Given the description of an element on the screen output the (x, y) to click on. 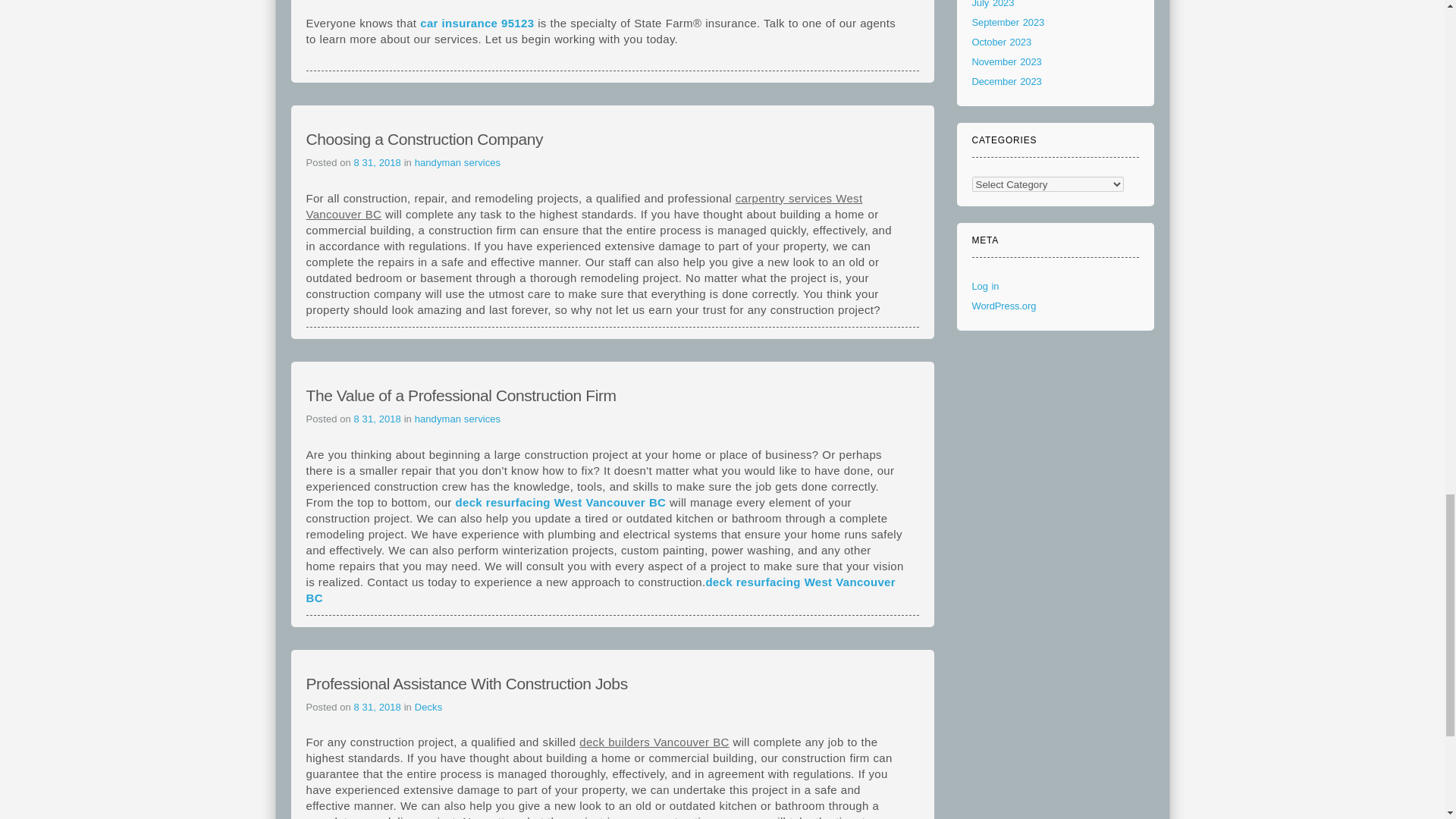
View all posts in handyman services (457, 162)
Professional Assistance With Construction Jobs (466, 683)
Decks (428, 706)
deck resurfacing West Vancouver BC (560, 502)
carpentry services West Vancouver BC (584, 205)
The Value of a Professional Construction Firm (460, 395)
handyman services (457, 162)
The Value of a Professional Construction Firm (460, 395)
deck resurfacing West Vancouver BC (600, 588)
deck builders Vancouver BC (654, 741)
car insurance 95123 (477, 22)
handyman services (457, 419)
8 31, 2018  (378, 706)
8 31, 2018  (378, 162)
Choosing a Construction Company (424, 139)
